Given the description of an element on the screen output the (x, y) to click on. 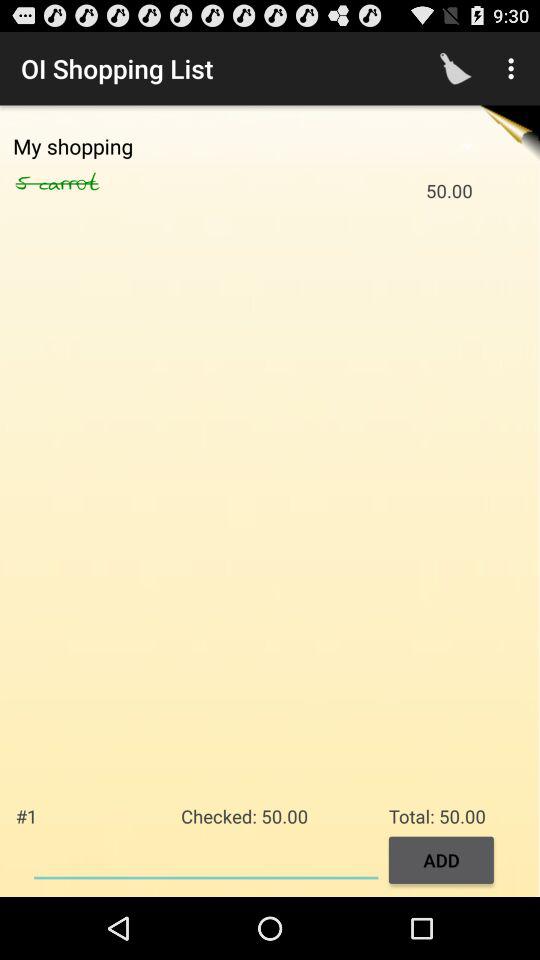
choose the app next to carrot  icon (27, 183)
